Given the description of an element on the screen output the (x, y) to click on. 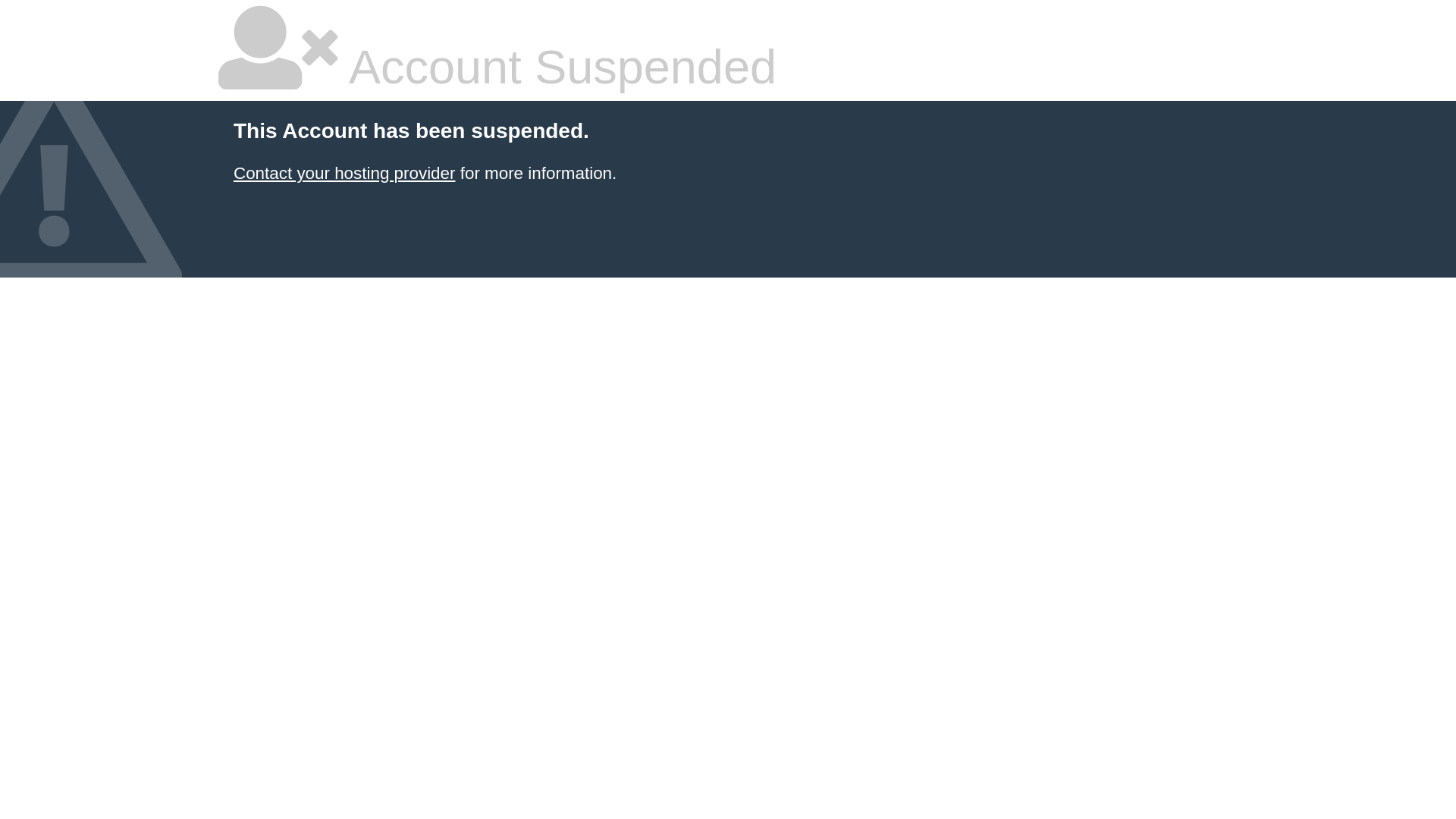
Contact your hosting provider Element type: text (344, 172)
